Given the description of an element on the screen output the (x, y) to click on. 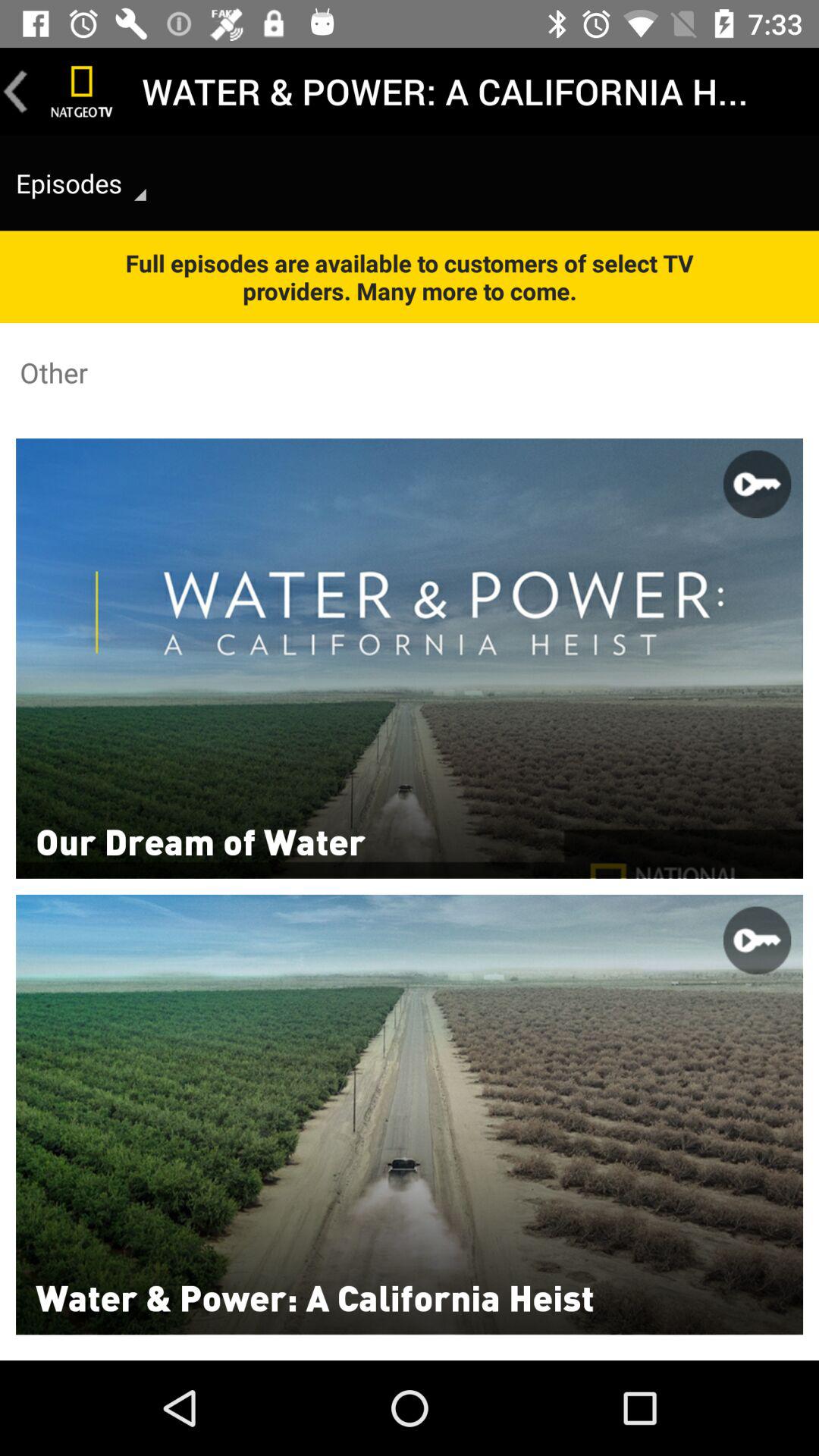
open the item above other item (409, 276)
